Given the description of an element on the screen output the (x, y) to click on. 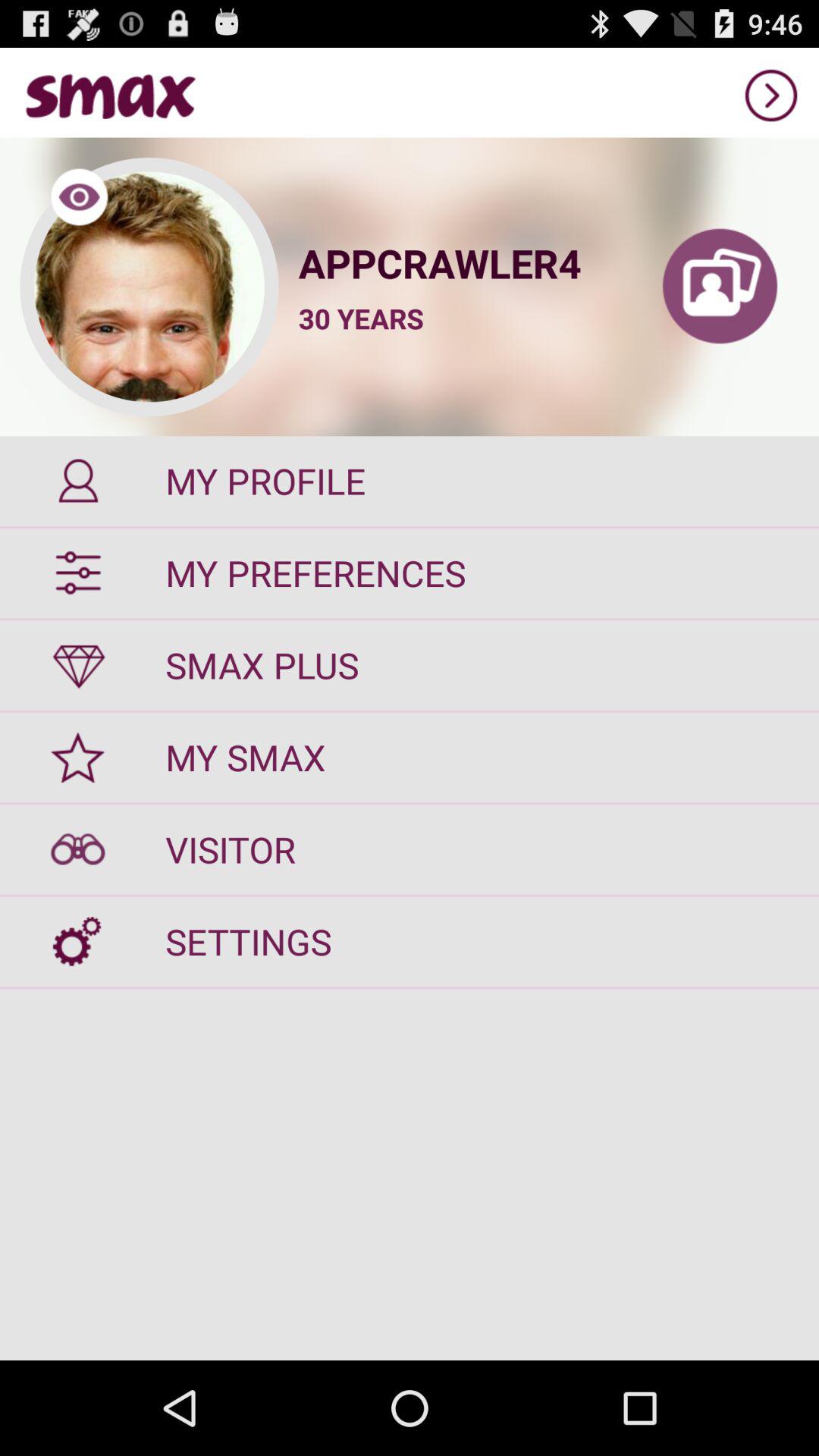
tap the appcrawler4 item (459, 262)
